Given the description of an element on the screen output the (x, y) to click on. 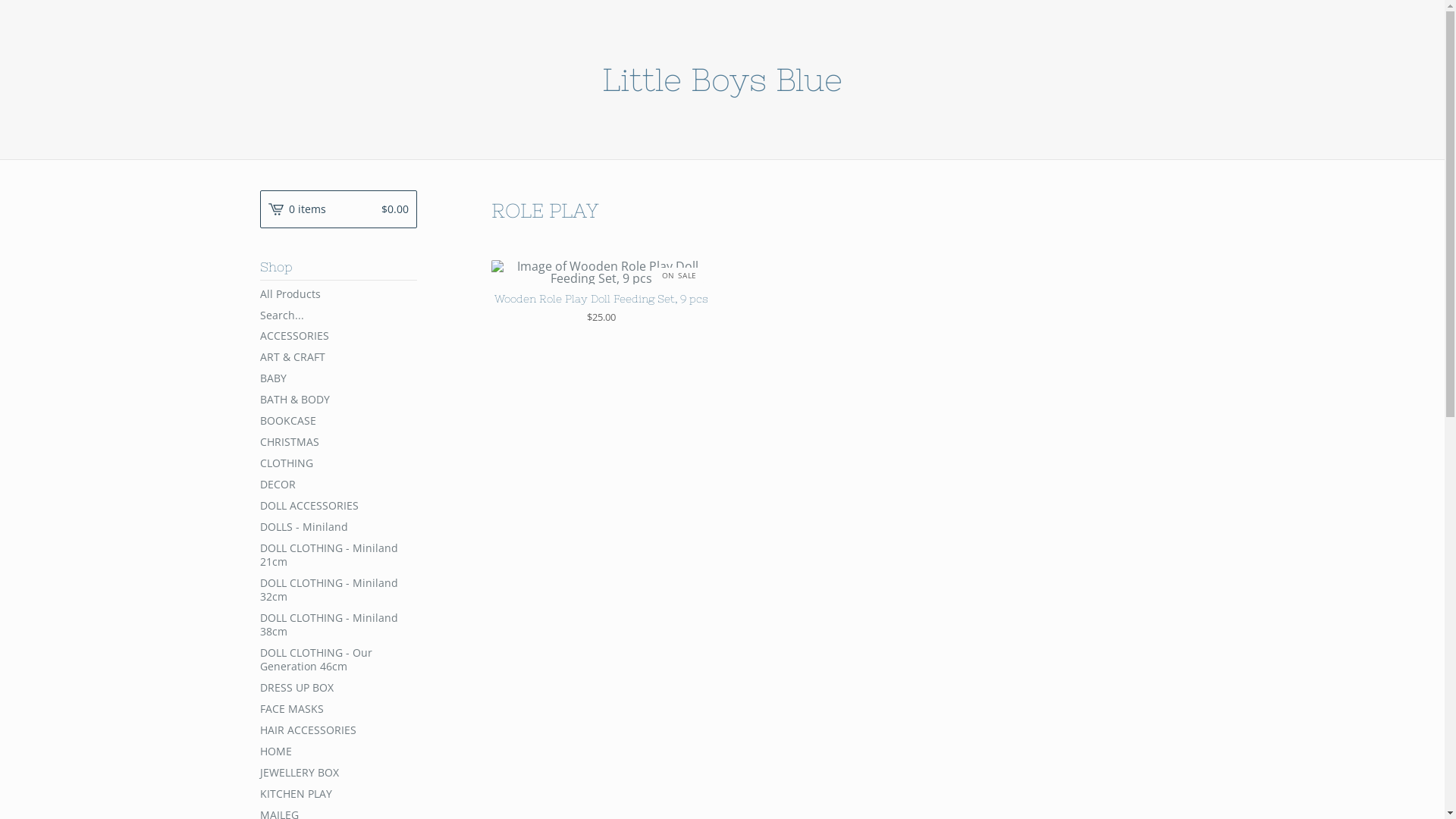
BOOKCASE Element type: text (337, 420)
HOME Element type: text (337, 751)
HAIR ACCESSORIES Element type: text (337, 729)
DOLL CLOTHING - Miniland 38cm Element type: text (337, 624)
DOLL CLOTHING - Miniland 32cm Element type: text (337, 589)
BATH & BODY Element type: text (337, 399)
BABY Element type: text (337, 378)
All Products Element type: text (337, 293)
DRESS UP BOX Element type: text (337, 687)
0 items
$0.00 Element type: text (337, 209)
CLOTHING Element type: text (337, 462)
KITCHEN PLAY Element type: text (337, 793)
Little Boys Blue Element type: text (721, 79)
ART & CRAFT Element type: text (337, 356)
JEWELLERY BOX Element type: text (337, 772)
DOLLS - Miniland Element type: text (337, 526)
DOLL CLOTHING - Miniland 21cm Element type: text (337, 554)
FACE MASKS Element type: text (337, 708)
Wooden Role Play Doll Feeding Set, 9 pcs
$25.00
ON SALE Element type: text (601, 291)
CHRISTMAS Element type: text (337, 441)
DECOR Element type: text (337, 484)
DOLL CLOTHING - Our Generation 46cm Element type: text (337, 659)
DOLL ACCESSORIES Element type: text (337, 505)
ACCESSORIES Element type: text (337, 335)
